Given the description of an element on the screen output the (x, y) to click on. 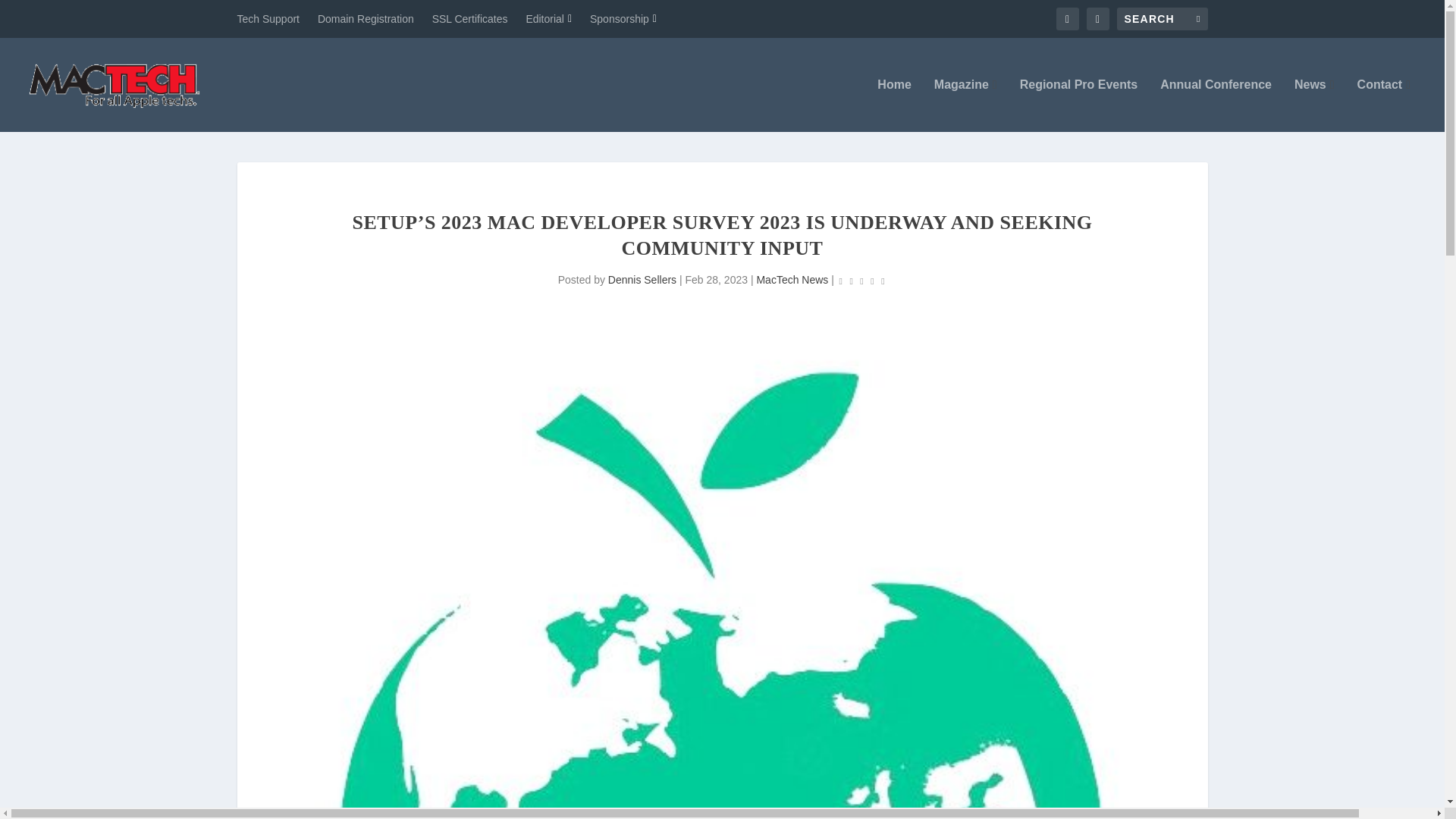
Contact (1383, 104)
Rating: 0.00 (861, 280)
Sponsorship (622, 18)
Posts by Dennis Sellers (642, 279)
Domain Registration (365, 18)
Annual Conference (1215, 104)
MacTech News (791, 279)
Tech Support (267, 18)
Dennis Sellers (642, 279)
Magazine (965, 104)
Editorial (548, 18)
SSL Certificates (470, 18)
Search for: (1161, 18)
Regional Pro Events (1079, 104)
